Given the description of an element on the screen output the (x, y) to click on. 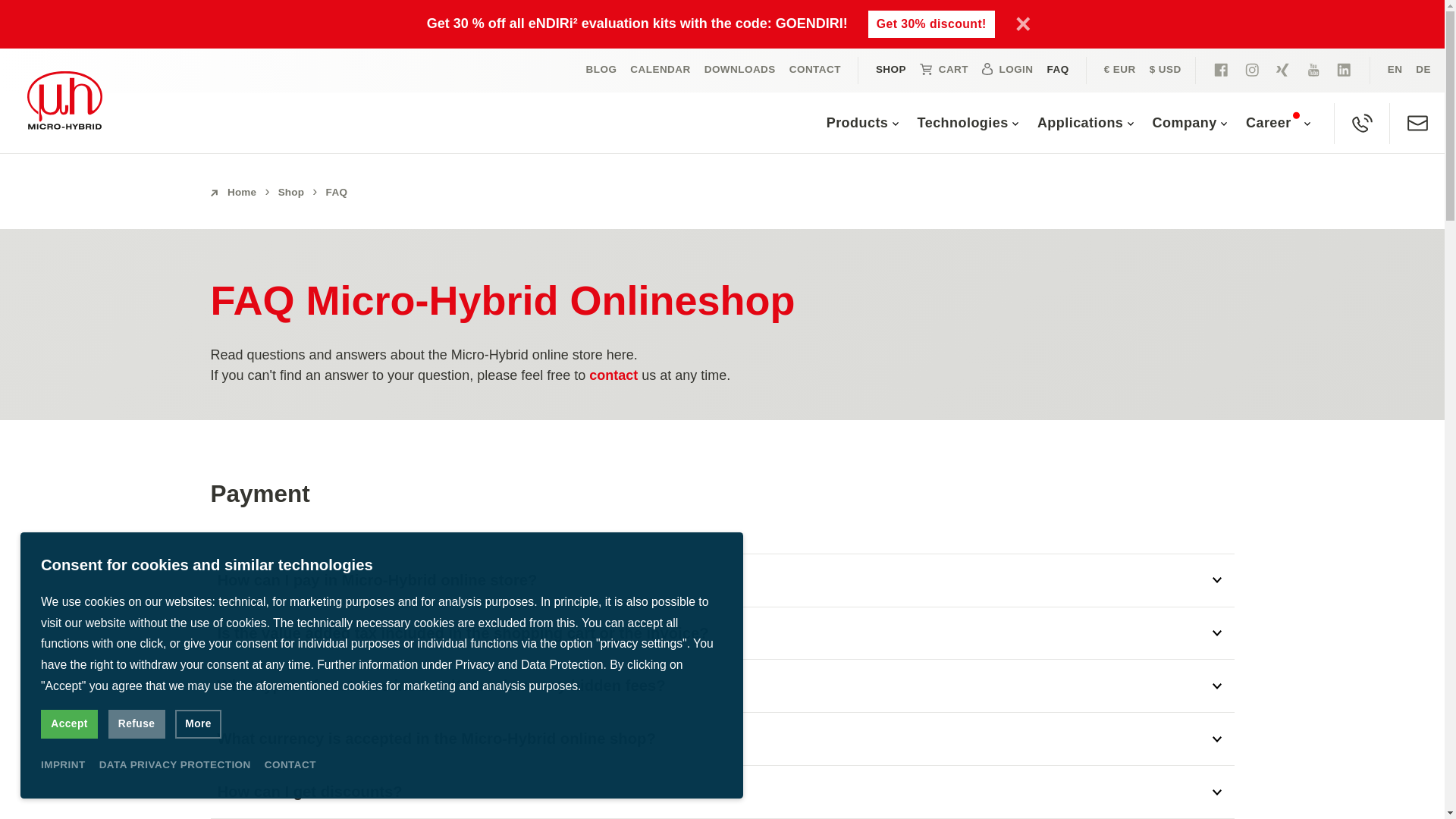
IMPRINT (63, 765)
CONTACT (815, 69)
Facebook (1220, 70)
Go to homepage (64, 100)
DE (1423, 69)
Youtube (1313, 70)
CALENDAR (660, 69)
SHOP (890, 69)
CONTACT (290, 765)
More (197, 724)
electronics sensors applications (601, 69)
LinkedIn (1343, 70)
FAQ Micro-Hybrid online shop (1423, 69)
